Given the description of an element on the screen output the (x, y) to click on. 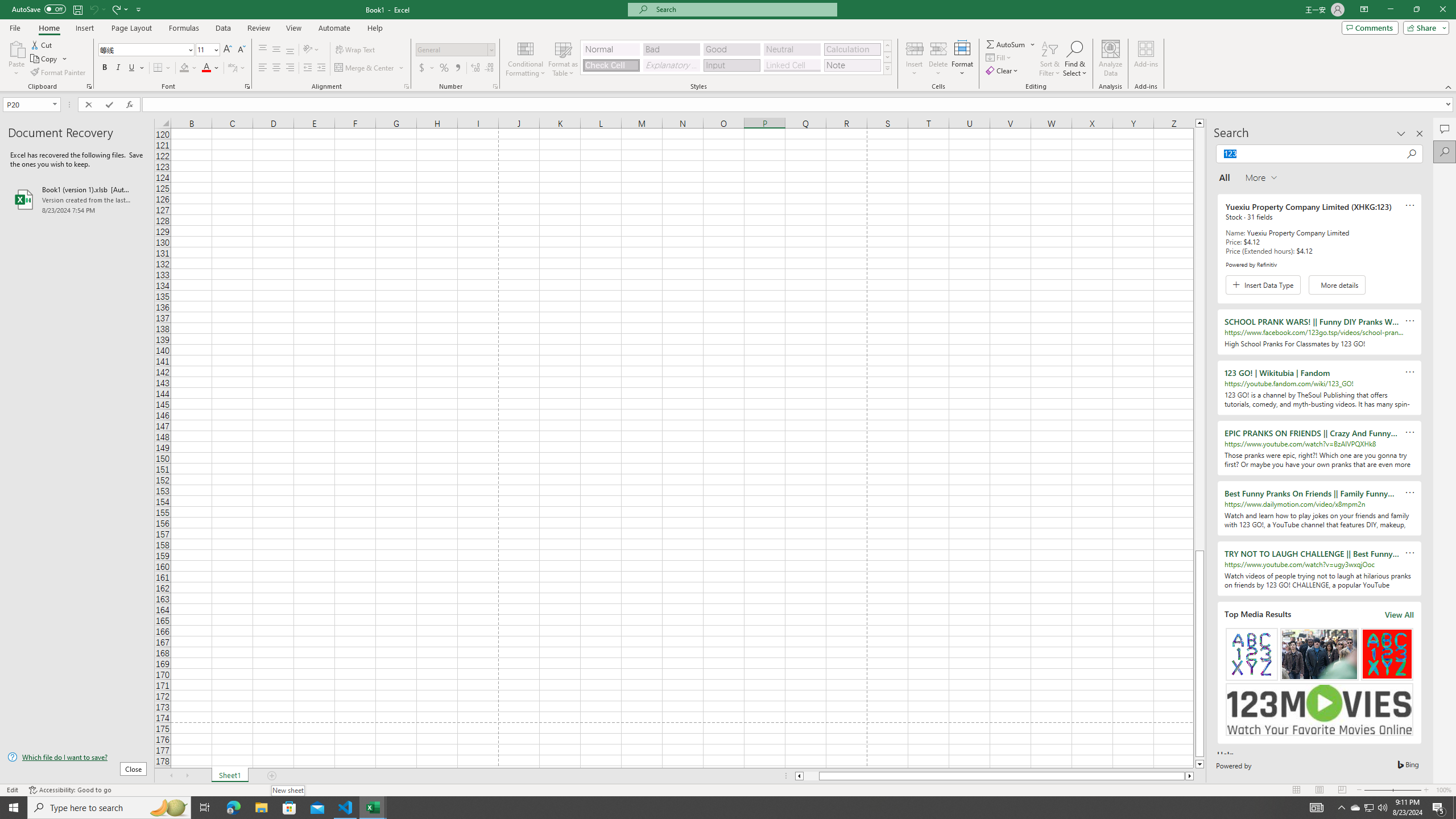
Cell Styles (887, 68)
Decrease Font Size (240, 49)
Format Painter (58, 72)
Merge & Center (365, 67)
Delete Cells... (938, 48)
Percent Style (443, 67)
Top Align (262, 49)
Wrap Text (355, 49)
Copy (45, 58)
